Given the description of an element on the screen output the (x, y) to click on. 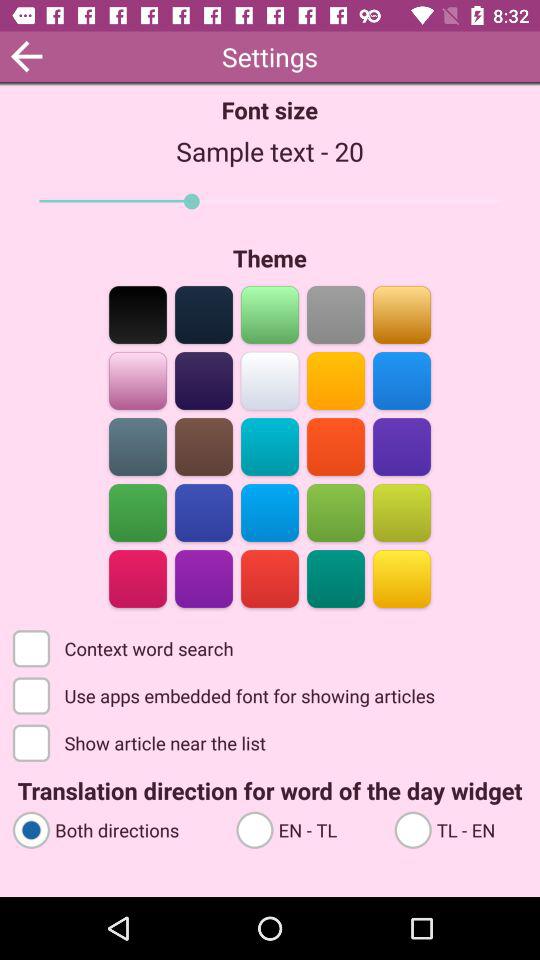
select that color as the theme (137, 577)
